Given the description of an element on the screen output the (x, y) to click on. 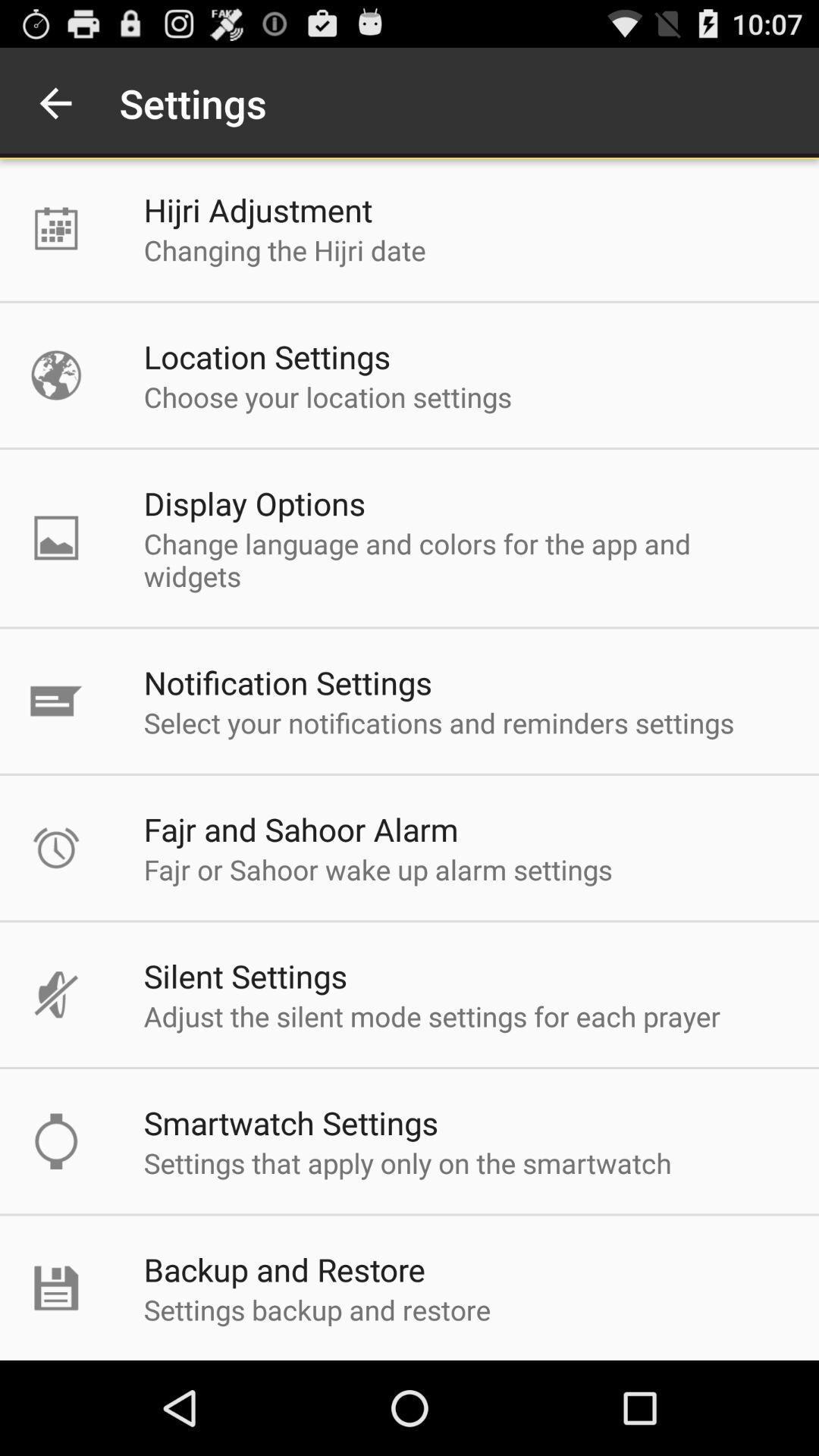
open the item above the backup and restore item (407, 1162)
